Given the description of an element on the screen output the (x, y) to click on. 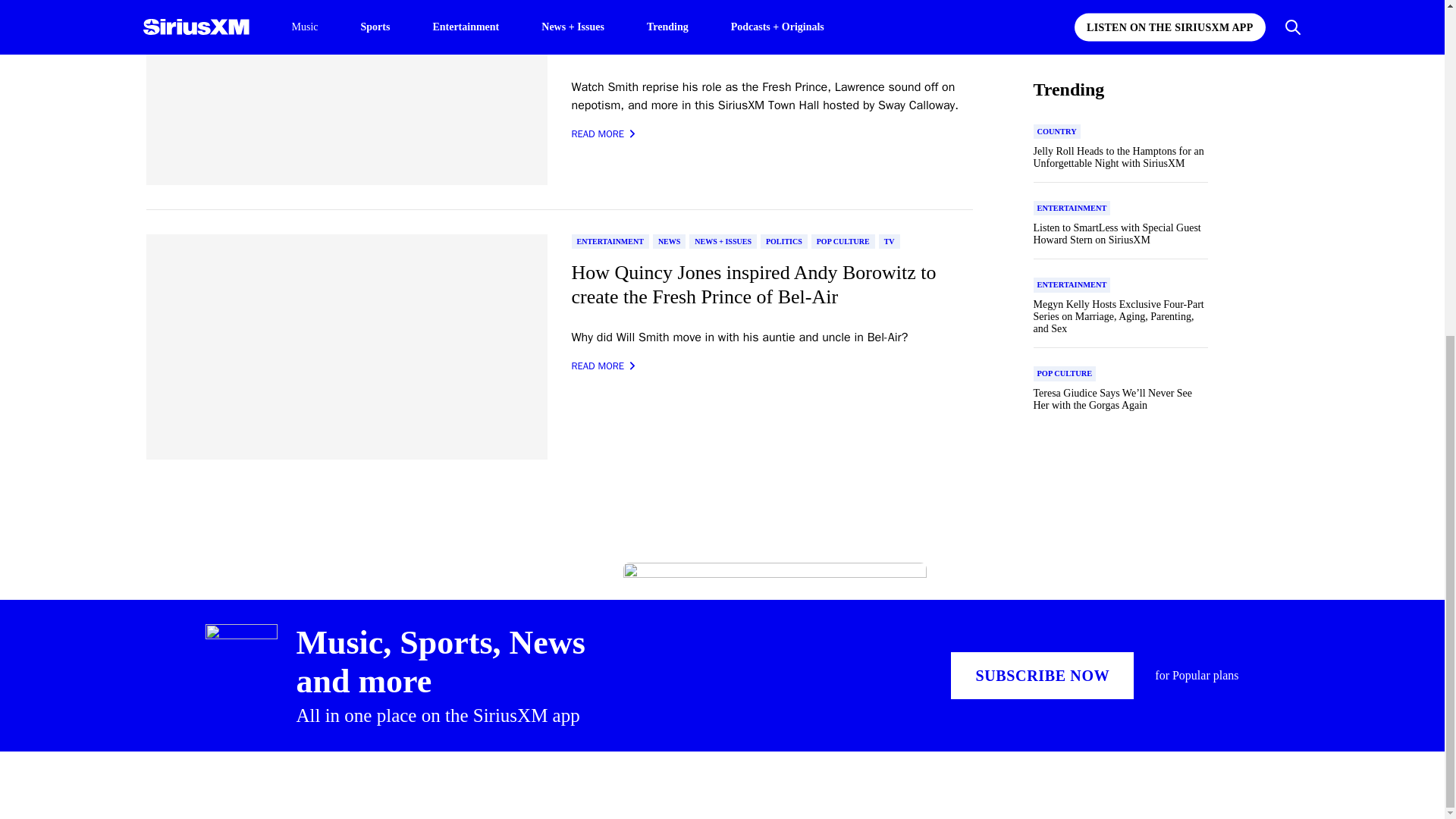
NEWS (668, 241)
POP CULTURE (842, 241)
READ MORE (603, 133)
ENTERTAINMENT (610, 241)
POLITICS (784, 241)
